Given the description of an element on the screen output the (x, y) to click on. 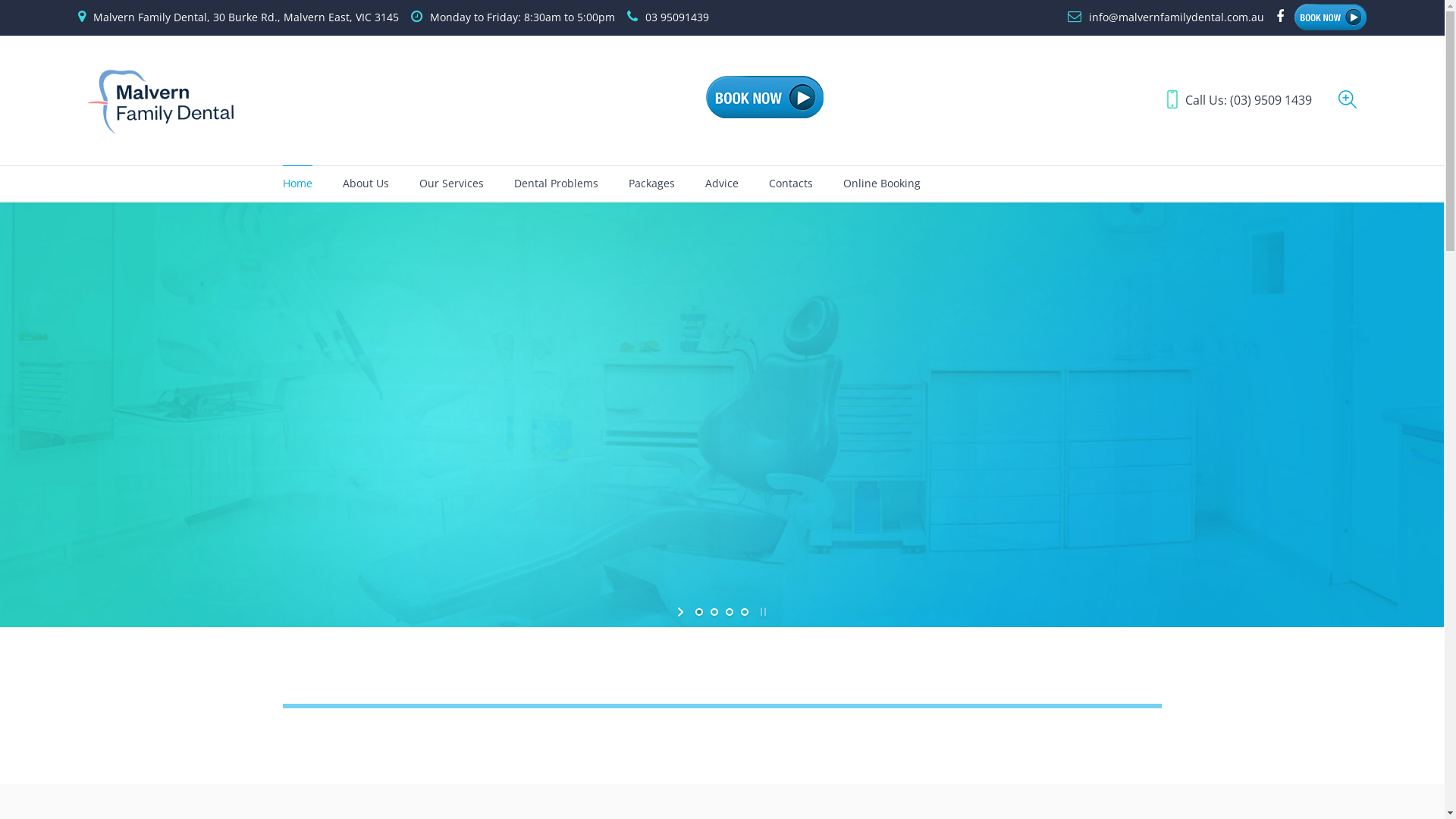
Online Booking Element type: text (881, 183)
03 95091439 Element type: text (677, 16)
Contacts Element type: text (790, 183)
Packages Element type: text (650, 183)
About Us Element type: text (365, 183)
Advice Element type: text (721, 183)
Our Services Element type: text (450, 183)
Home Element type: text (296, 183)
Dental Problems Element type: text (556, 183)
info@malvernfamilydental.com.au Element type: text (1176, 16)
